Given the description of an element on the screen output the (x, y) to click on. 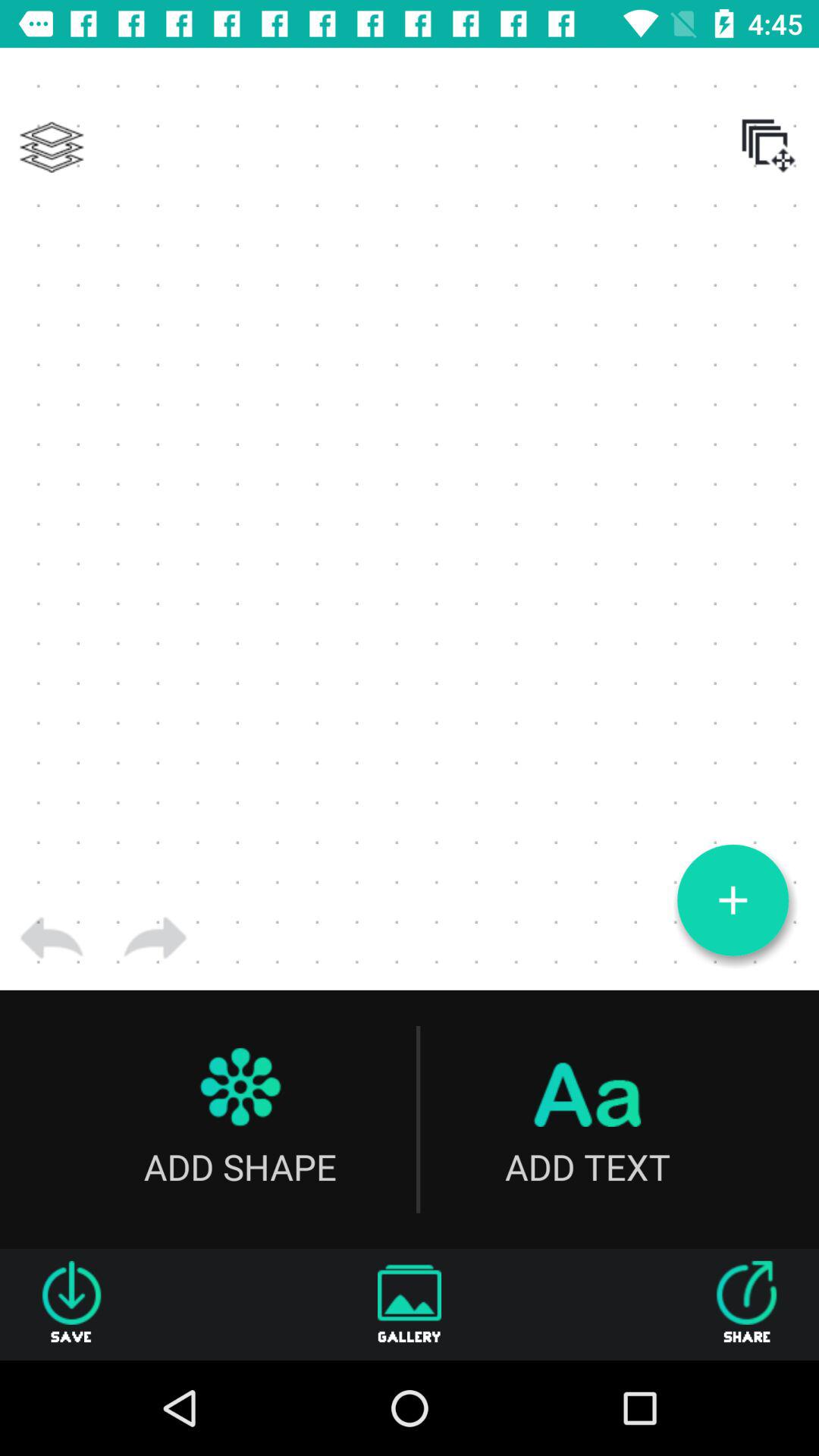
click the icon to the right of gallery (747, 1304)
